Given the description of an element on the screen output the (x, y) to click on. 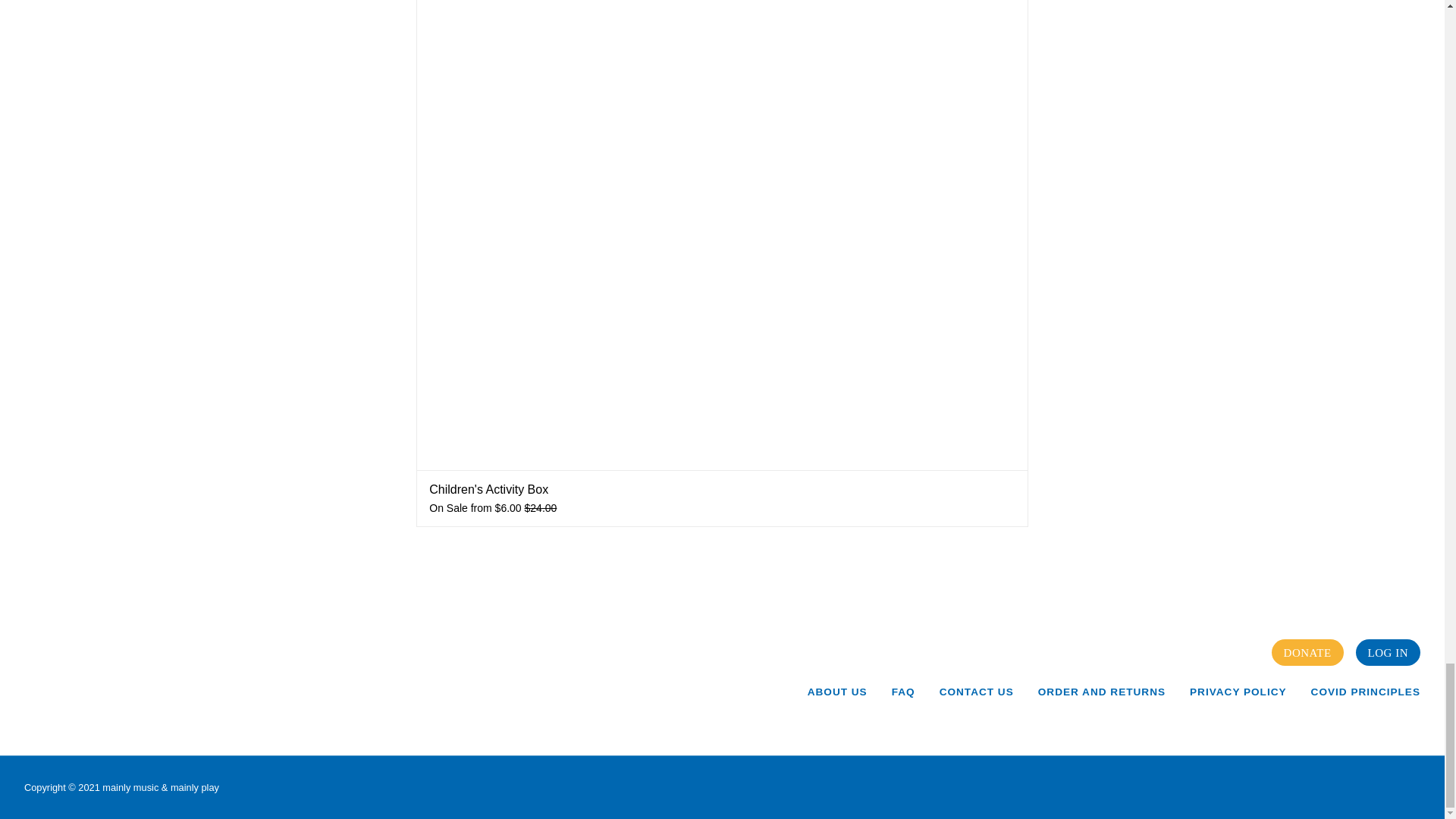
LOG IN (1388, 652)
ABOUT US (837, 691)
Children's Activity Box (488, 489)
DONATE (1307, 652)
